Given the description of an element on the screen output the (x, y) to click on. 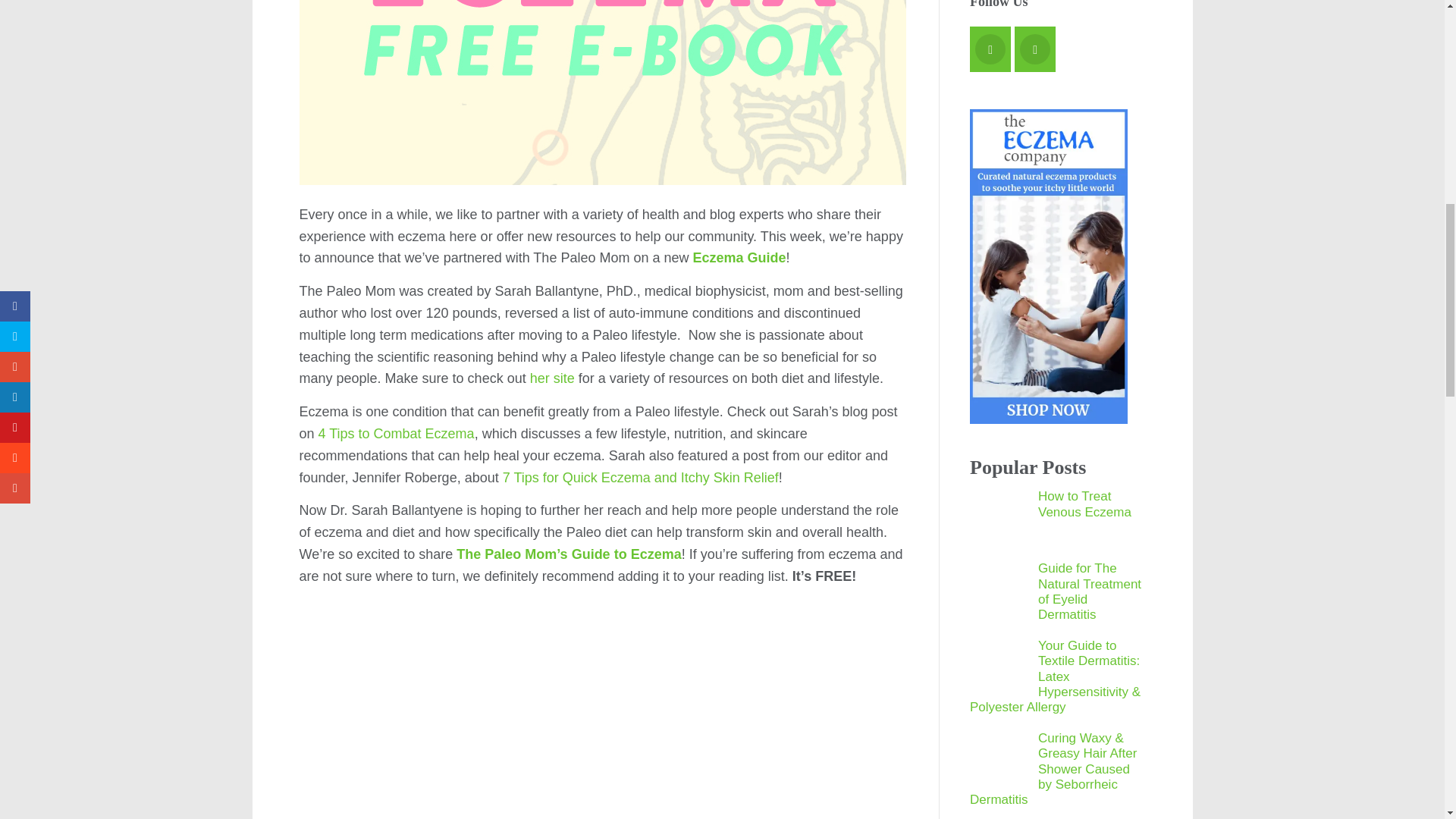
Eczema Guide (739, 257)
her site (552, 378)
4 Tips to Combat Eczema (396, 433)
